Given the description of an element on the screen output the (x, y) to click on. 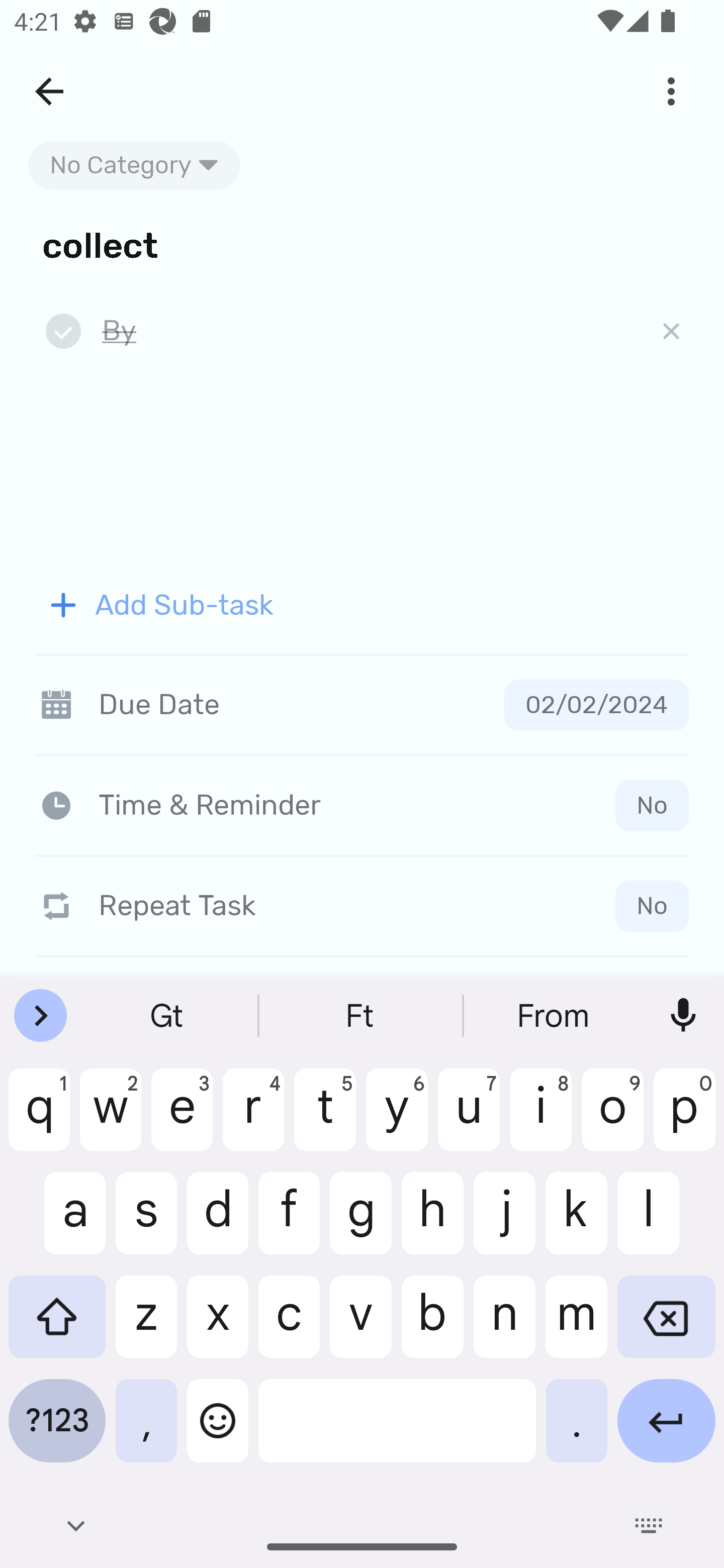
No Category (134, 165)
collect (362, 244)
By (366, 331)
Add Sub-task (362, 604)
Due Date 02/02/2024 (362, 704)
Time & Reminder No (365, 804)
Repeat Task No (362, 905)
